Given the description of an element on the screen output the (x, y) to click on. 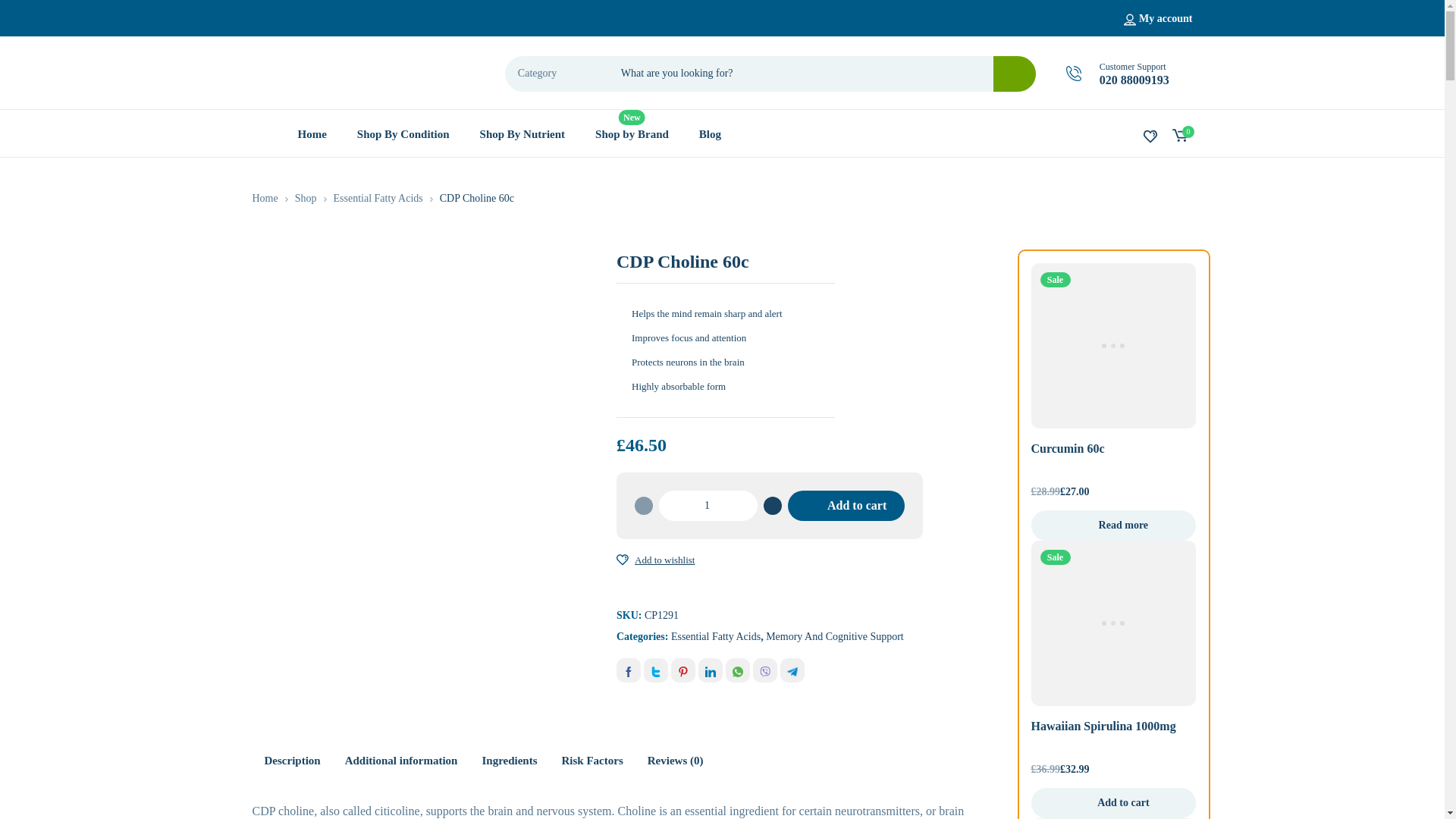
Add to wishlist (621, 560)
Shop By Condition (402, 133)
Share on Facebook (627, 670)
Search (1013, 73)
Search (1013, 73)
Share on LinkedIn (710, 670)
Log In (1055, 194)
Wishlist (1149, 134)
Share on Telegram (792, 670)
Share on Viber (764, 670)
